Given the description of an element on the screen output the (x, y) to click on. 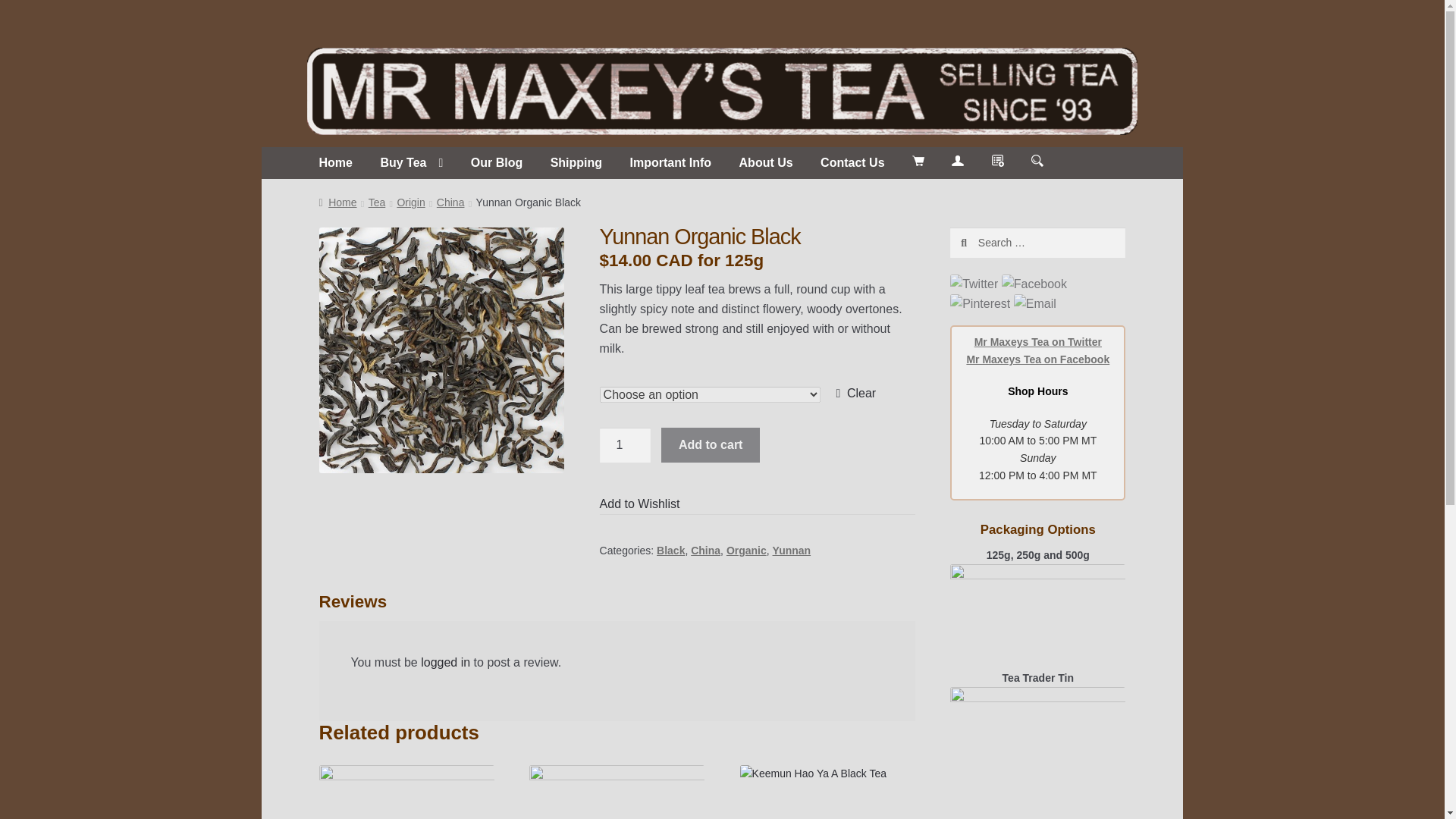
My Wishlist (997, 160)
Search Products (1036, 160)
My Cart (918, 160)
1 (624, 444)
My Account (957, 160)
Buy Tea (411, 163)
Home (334, 163)
